Given the description of an element on the screen output the (x, y) to click on. 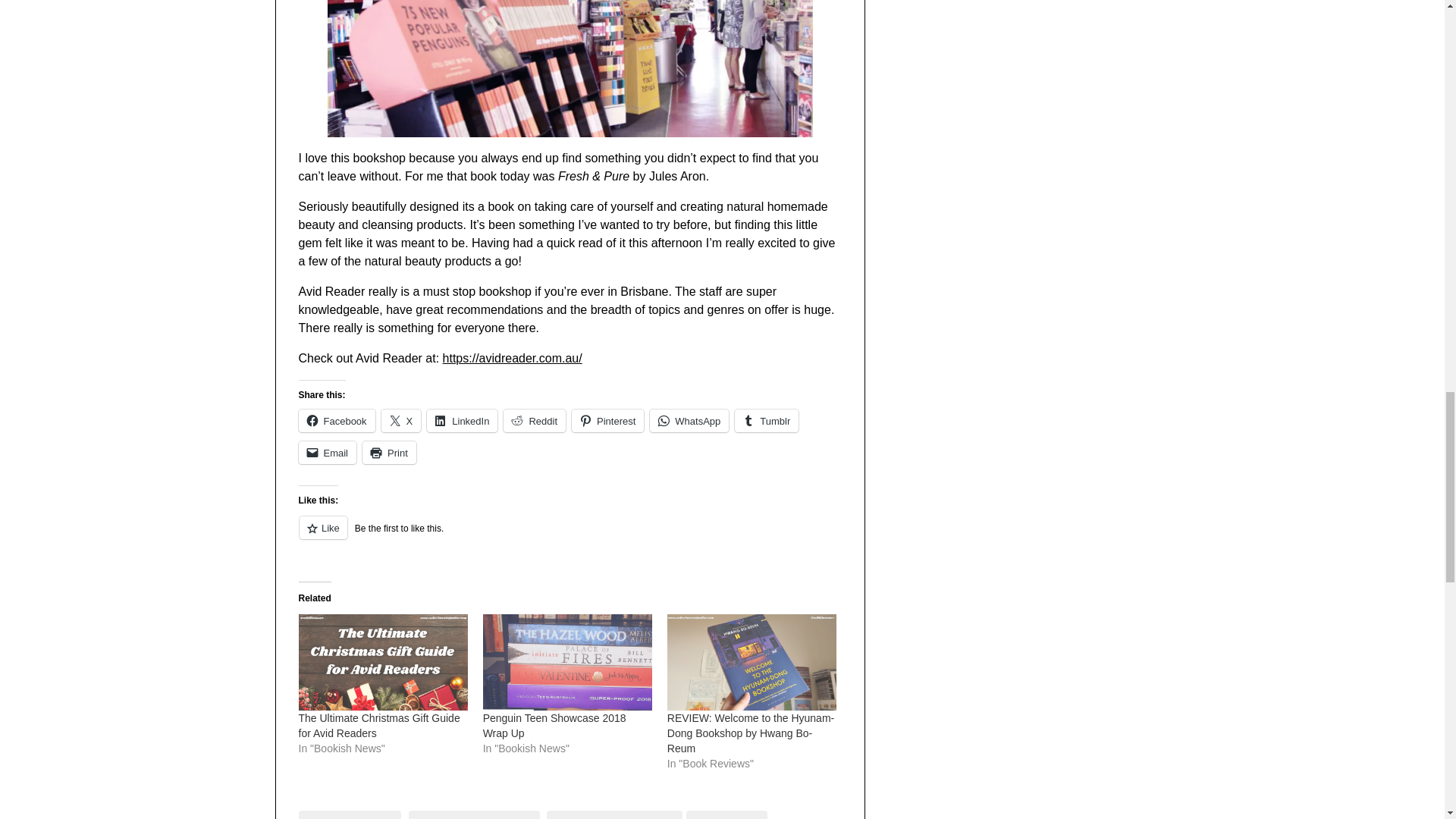
Click to email a link to a friend (327, 452)
Click to share on Reddit (534, 420)
Pinterest (607, 420)
Click to share on Facebook (336, 420)
WhatsApp (689, 420)
Click to share on LinkedIn (461, 420)
Like or Reblog (570, 536)
Click to print (389, 452)
X (401, 420)
Click to share on Pinterest (607, 420)
LinkedIn (461, 420)
Click to share on WhatsApp (689, 420)
Click to share on X (401, 420)
Facebook (336, 420)
Click to share on Tumblr (766, 420)
